Given the description of an element on the screen output the (x, y) to click on. 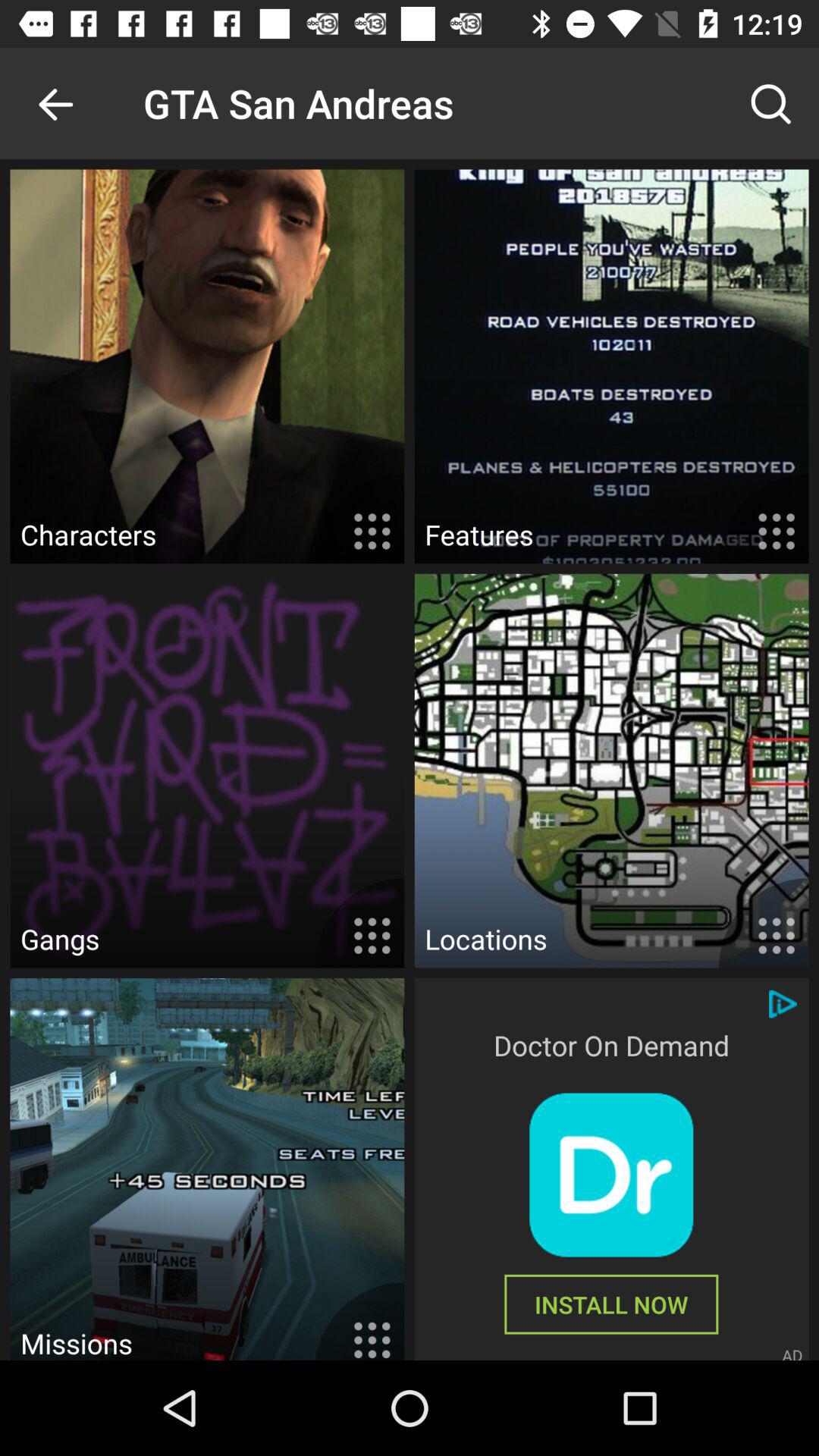
launch the item next to ad icon (611, 1304)
